Given the description of an element on the screen output the (x, y) to click on. 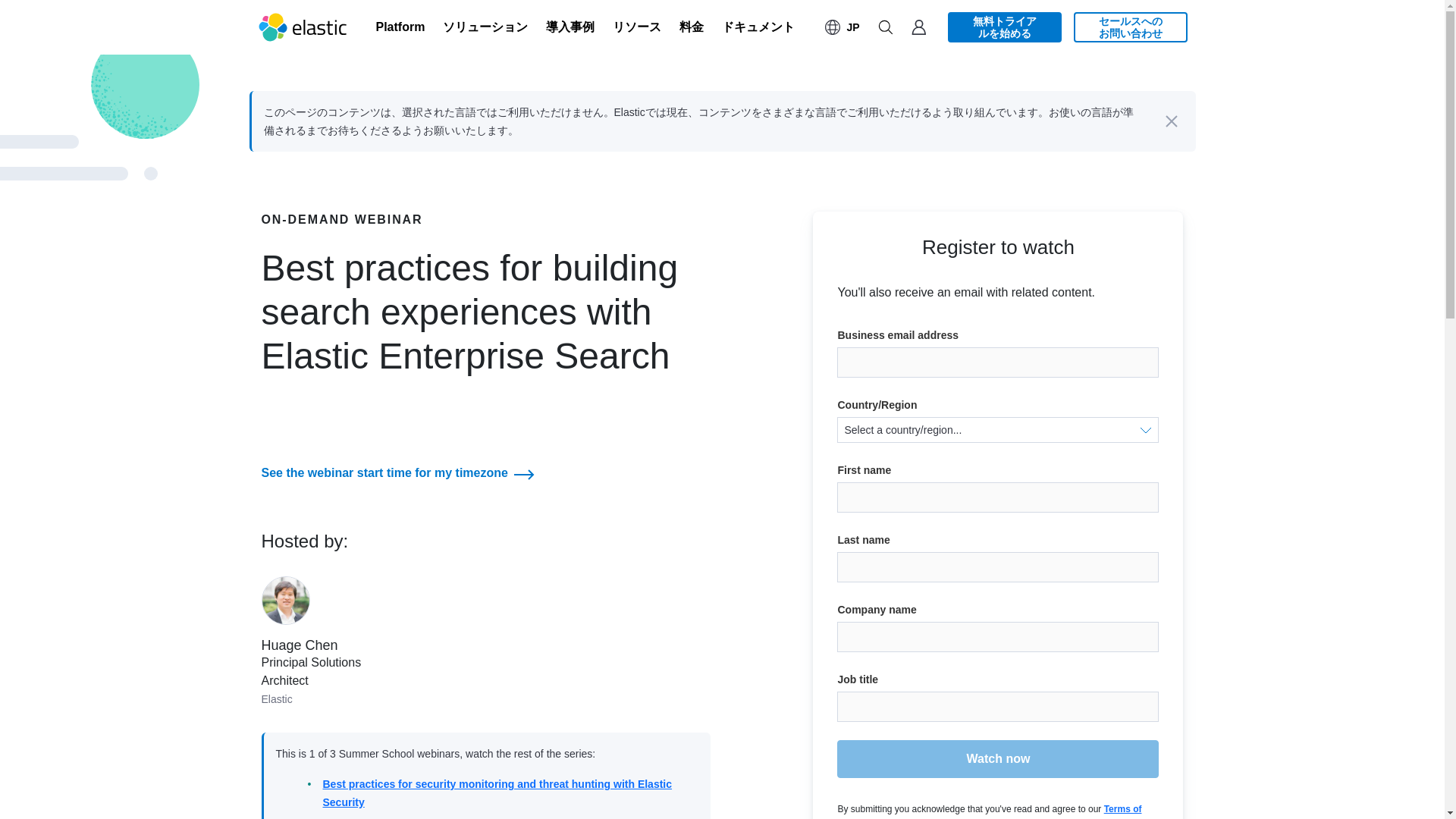
Platform (399, 27)
JP (841, 27)
Enter your first name (997, 497)
Enter your last name (997, 567)
Elastic (303, 27)
Enter your company name (997, 636)
